Given the description of an element on the screen output the (x, y) to click on. 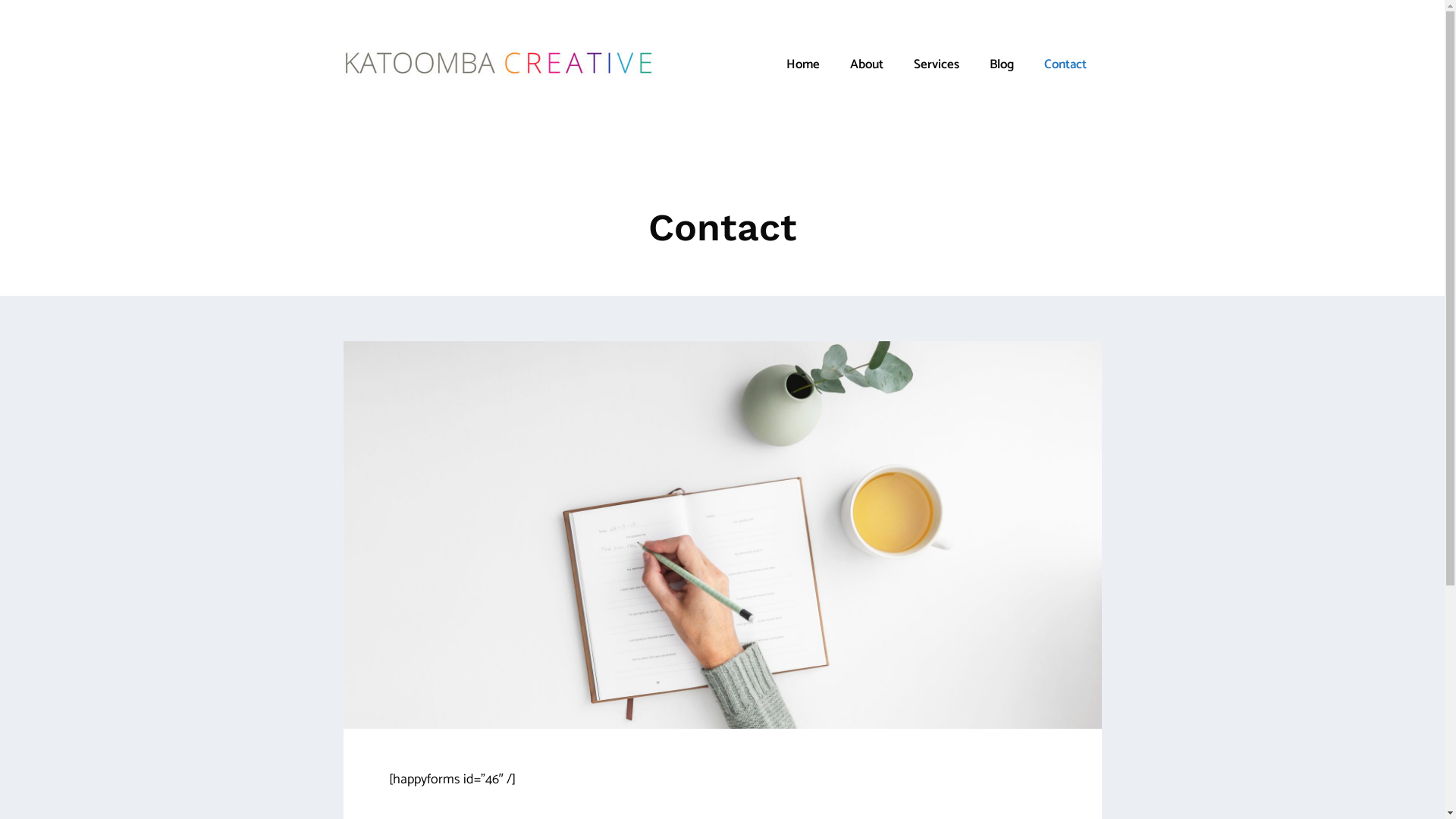
Contact Element type: text (1064, 64)
Services Element type: text (935, 64)
Blog Element type: text (1000, 64)
Home Element type: text (802, 64)
About Element type: text (865, 64)
